Given the description of an element on the screen output the (x, y) to click on. 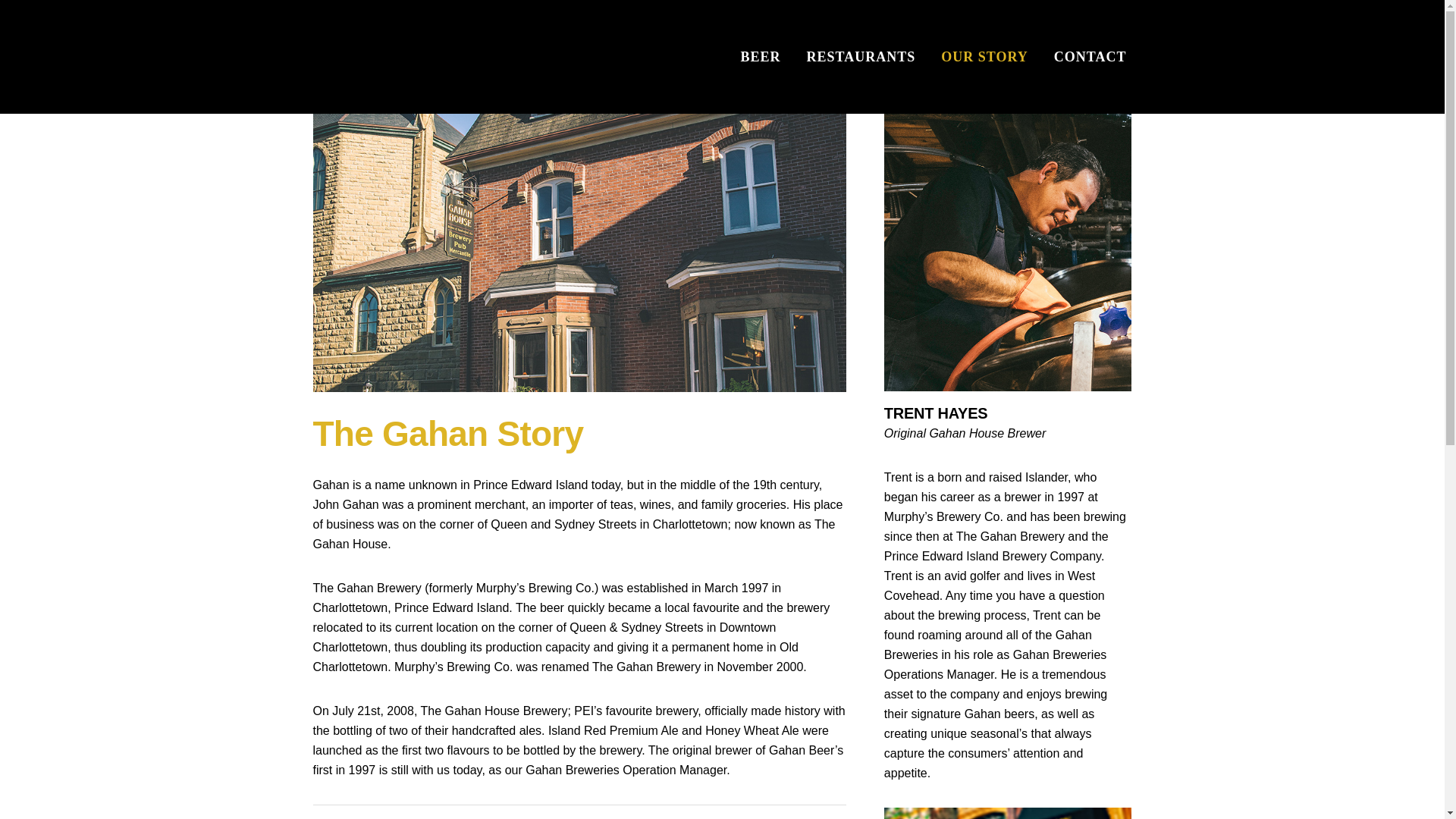
RESTAURANTS (860, 56)
trent-hayes-1 (1007, 252)
story-1 (1007, 813)
OUR STORY (984, 56)
